Given the description of an element on the screen output the (x, y) to click on. 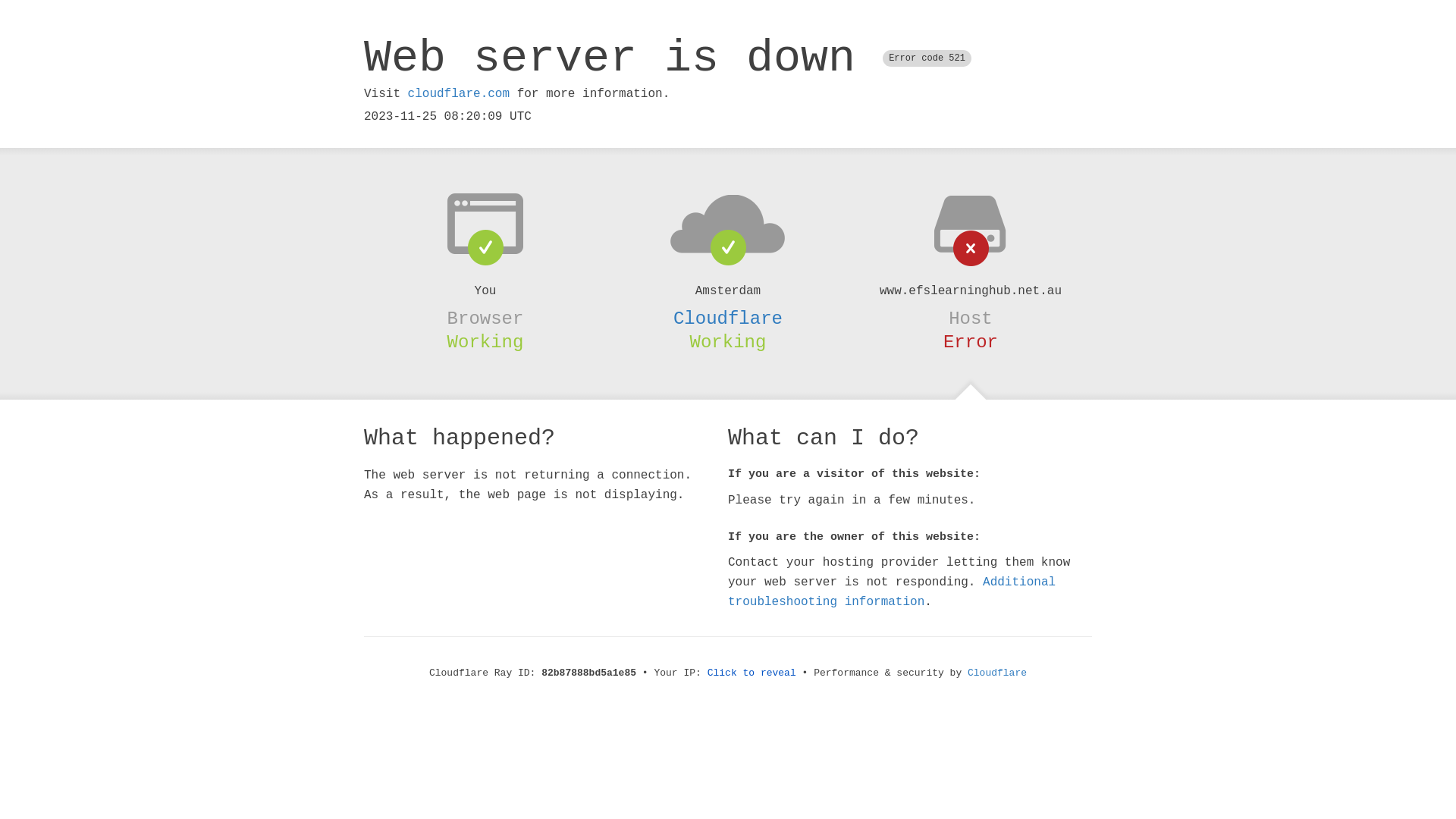
Cloudflare Element type: text (996, 672)
Additional troubleshooting information Element type: text (891, 591)
Click to reveal Element type: text (751, 672)
cloudflare.com Element type: text (458, 93)
Cloudflare Element type: text (727, 318)
